Given the description of an element on the screen output the (x, y) to click on. 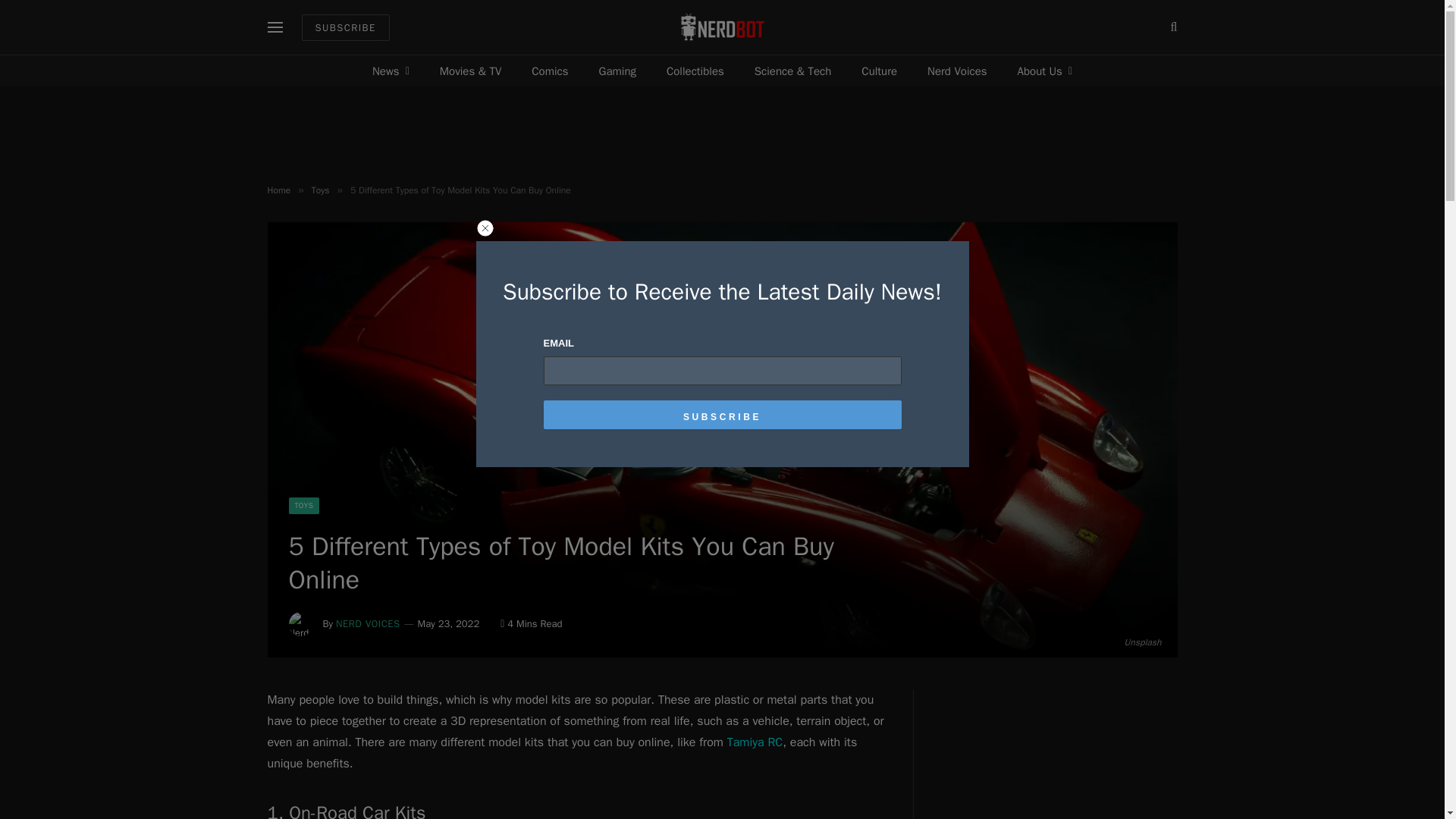
NERD VOICES (368, 623)
Tamiya RC (754, 742)
Toys (320, 190)
Culture (878, 70)
Posts by Nerd Voices (368, 623)
Comics (549, 70)
Nerd Voices (957, 70)
About Us (1045, 70)
NERDBOT (722, 26)
SUBSCRIBE (345, 26)
Collectibles (694, 70)
Gaming (616, 70)
News (390, 70)
Home (277, 190)
